Given the description of an element on the screen output the (x, y) to click on. 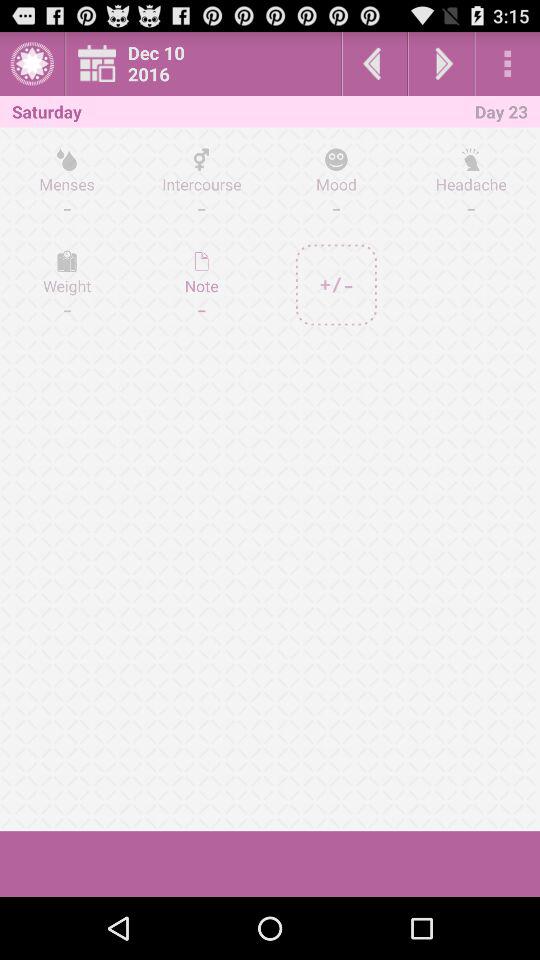
tap the dec 10
2016 item (209, 63)
